Given the description of an element on the screen output the (x, y) to click on. 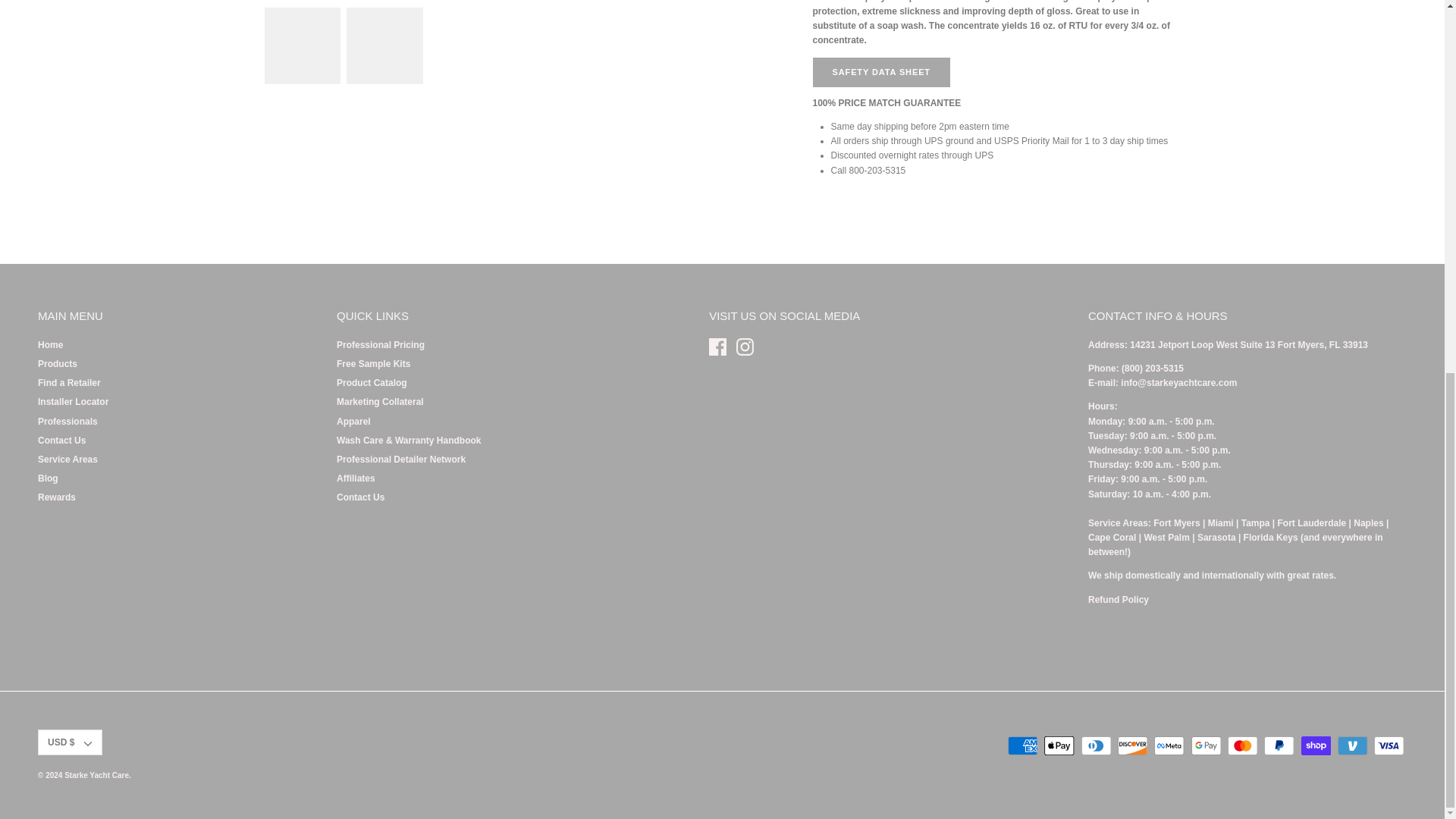
Naples Boat Detailing Cleaning Products (1368, 522)
Florida Keys Boat Detailing Cleaning Products (1270, 537)
Discover (1132, 745)
Mastercard (1242, 745)
Miami Boat Detailing Cleaning Products (1220, 522)
Facebook (717, 346)
Refund Policy (1117, 599)
Cape Coral Boat Detailing Cleaning Products (1111, 537)
Sarasota Boat Detailing Cleaning Products (1216, 537)
Diners Club (1095, 745)
Fort Lauderdale Boat Detailing Cleaning Products (1312, 522)
Instagram (745, 346)
Apple Pay (1058, 745)
Fort Myers Boat Detailing Cleaning Products (1176, 522)
Google Pay (1206, 745)
